Given the description of an element on the screen output the (x, y) to click on. 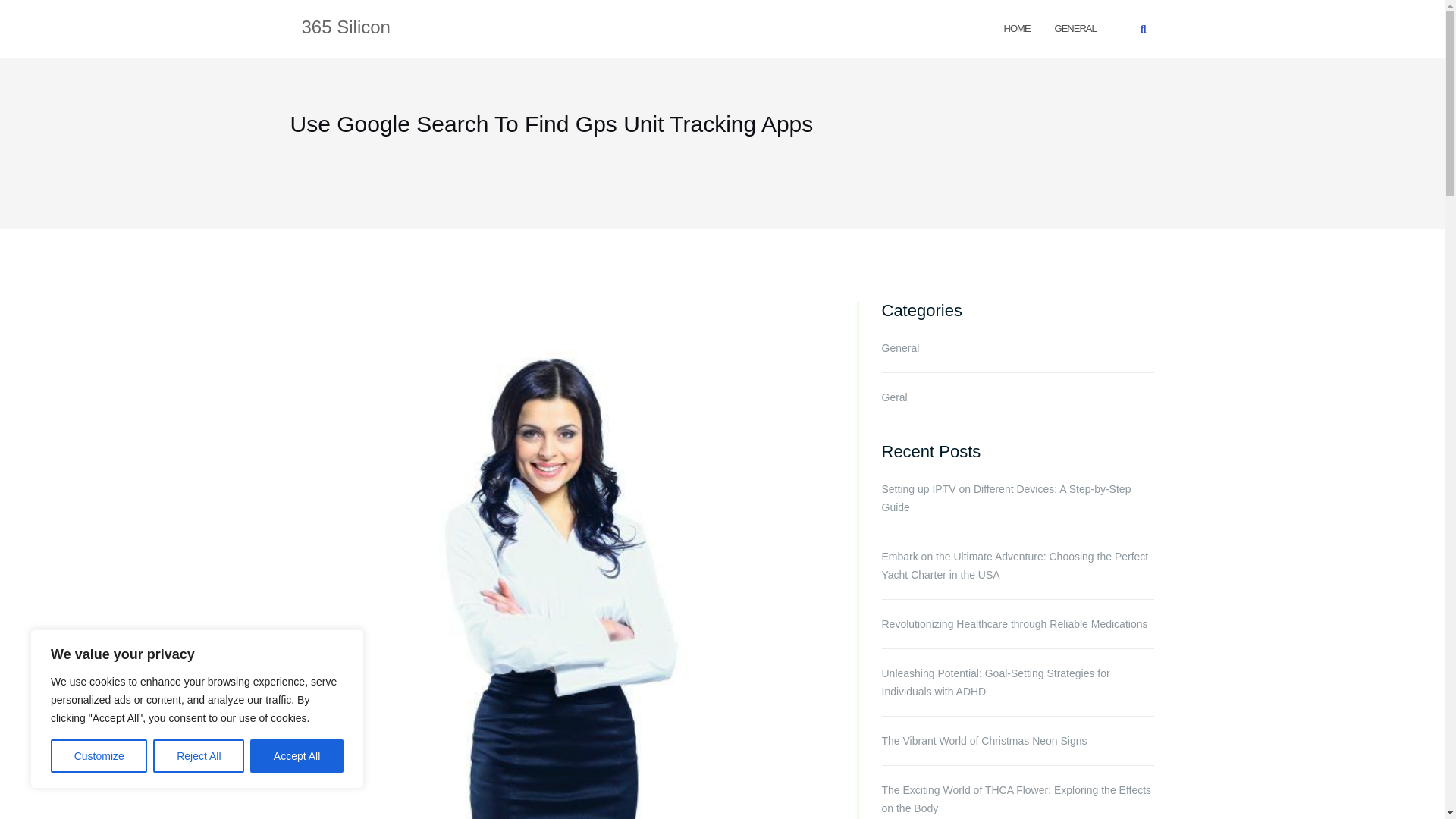
365 Silicon (345, 28)
Customize (98, 756)
GENERAL (1075, 28)
General (1075, 28)
Reject All (198, 756)
Accept All (296, 756)
